Given the description of an element on the screen output the (x, y) to click on. 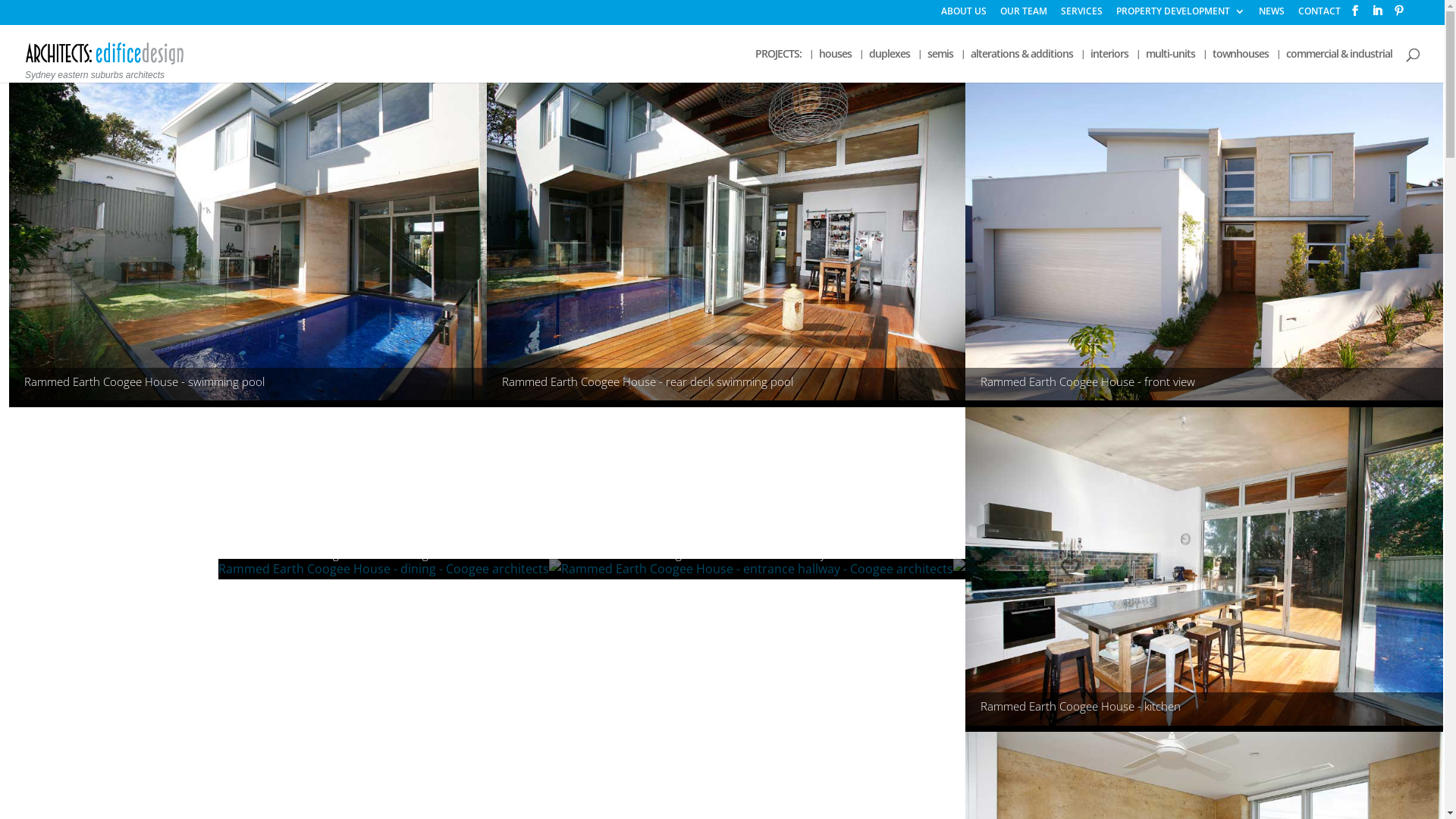
Rammed Earth Coogee House - entrance hallway Element type: hover (763, 568)
CONTACT Element type: text (1319, 14)
houses Element type: text (835, 65)
OUR TEAM Element type: text (1023, 14)
Rammed Earth Coogee House - front view  Element type: hover (1204, 243)
PROPERTY DEVELOPMENT Element type: text (1180, 14)
duplexes Element type: text (889, 65)
townhouses Element type: text (1240, 65)
SERVICES Element type: text (1081, 14)
NEWS Element type: text (1271, 14)
Rammed Earth Coogee House - rear deck swimming pool Element type: hover (725, 243)
Rammed Earth Coogee House - swimming pool Element type: hover (247, 243)
alterations & additions Element type: text (1021, 65)
PROJECTS: Element type: text (778, 65)
commercial & industrial Element type: text (1339, 65)
interiors Element type: text (1109, 65)
Rammed Earth Coogee House - dining  Element type: hover (389, 568)
Rammed Earth Coogee House - kitchen Element type: hover (1204, 569)
ABOUT US Element type: text (963, 14)
multi-units Element type: text (1170, 65)
semis Element type: text (940, 65)
